Given the description of an element on the screen output the (x, y) to click on. 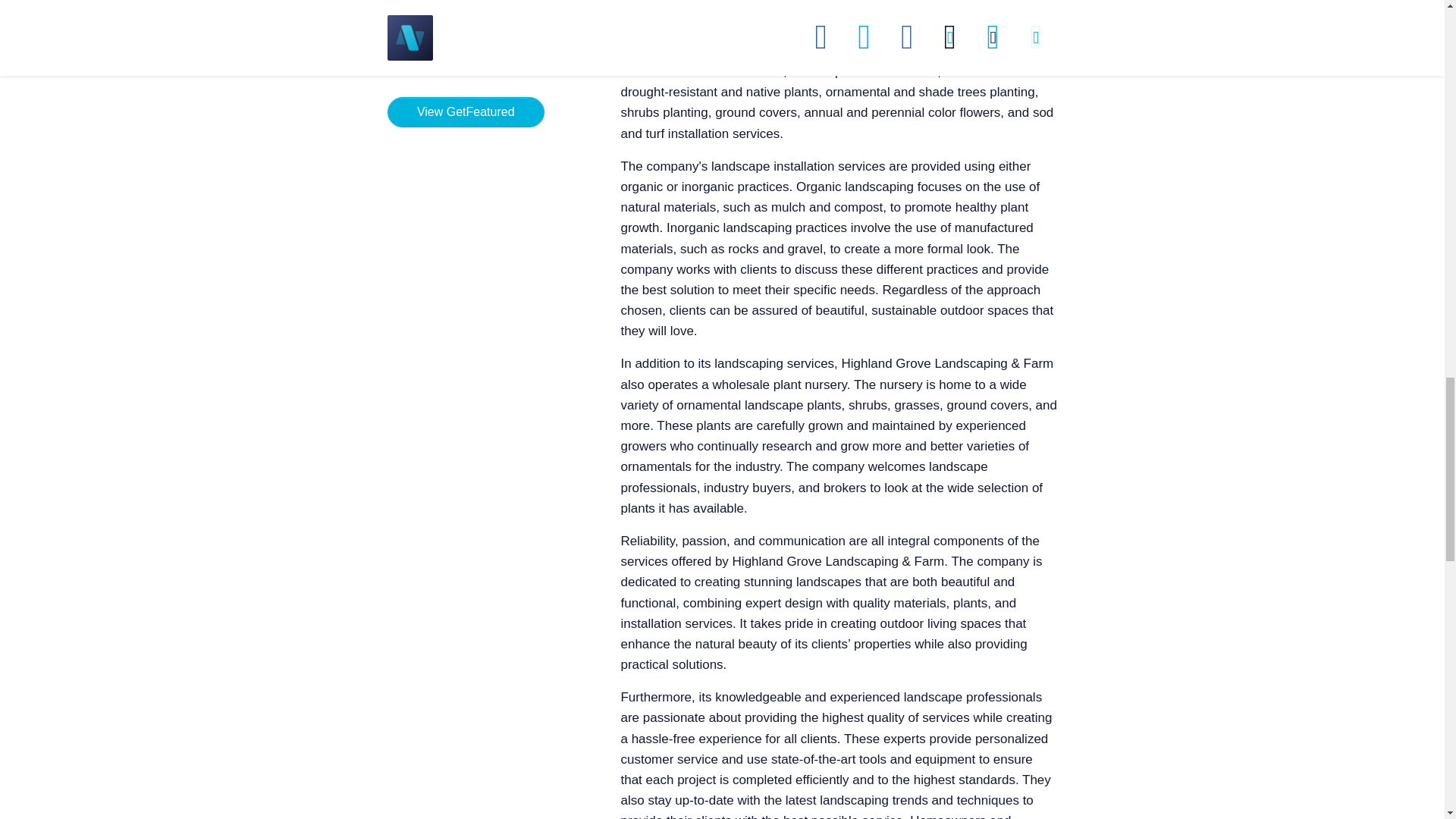
View GetFeatured (465, 112)
